Given the description of an element on the screen output the (x, y) to click on. 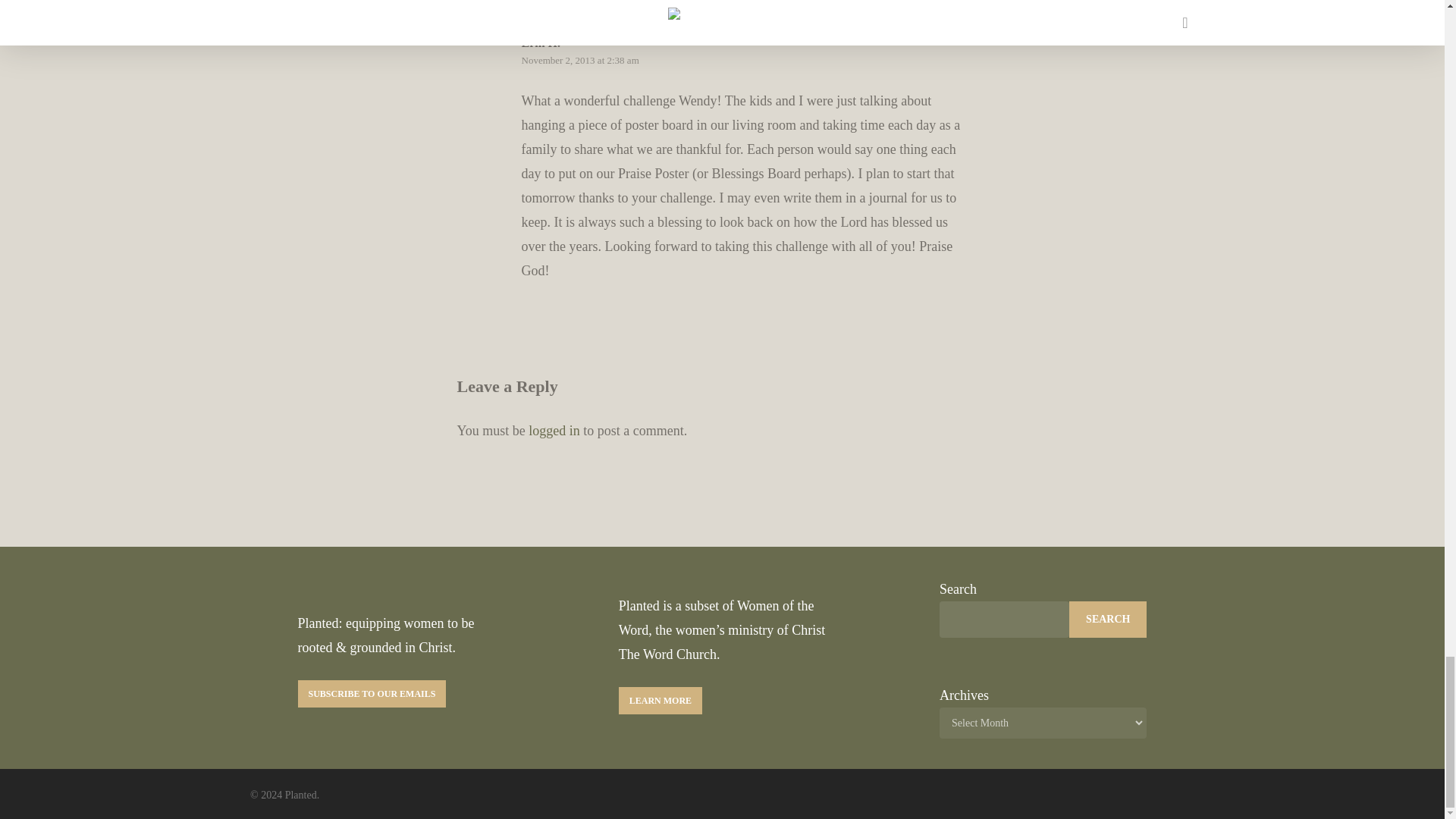
SUBSCRIBE TO OUR EMAILS (371, 693)
LEARN MORE (659, 700)
November 2, 2013 at 2:38 am (580, 60)
SEARCH (1107, 619)
logged in (553, 430)
